Given the description of an element on the screen output the (x, y) to click on. 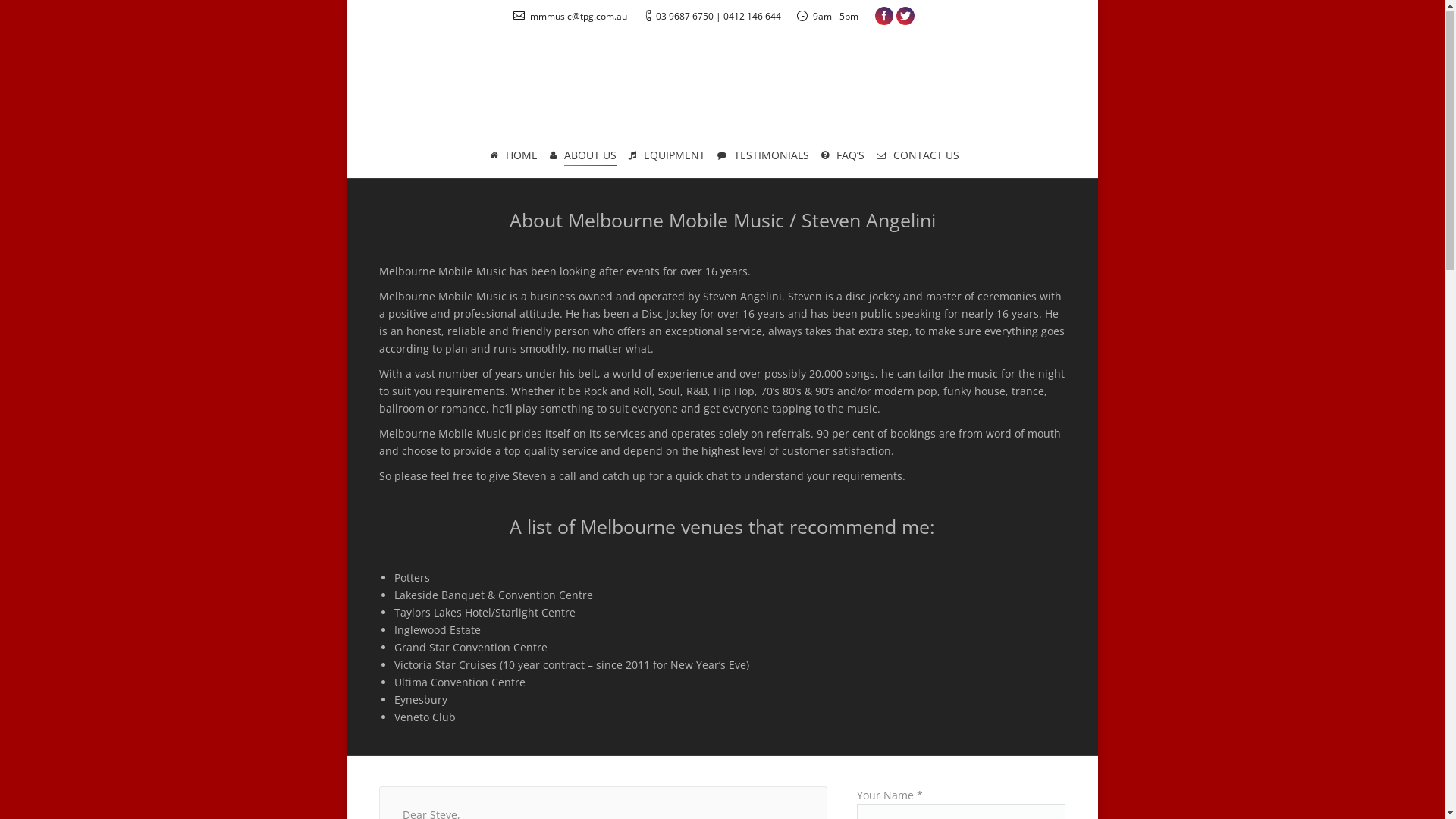
ABOUT US Element type: text (583, 156)
CONTACT US Element type: text (917, 156)
EQUIPMENT Element type: text (666, 156)
Twitter Element type: hover (905, 16)
TESTIMONIALS Element type: text (762, 156)
Facebook Element type: hover (884, 16)
HOME Element type: text (512, 156)
